Given the description of an element on the screen output the (x, y) to click on. 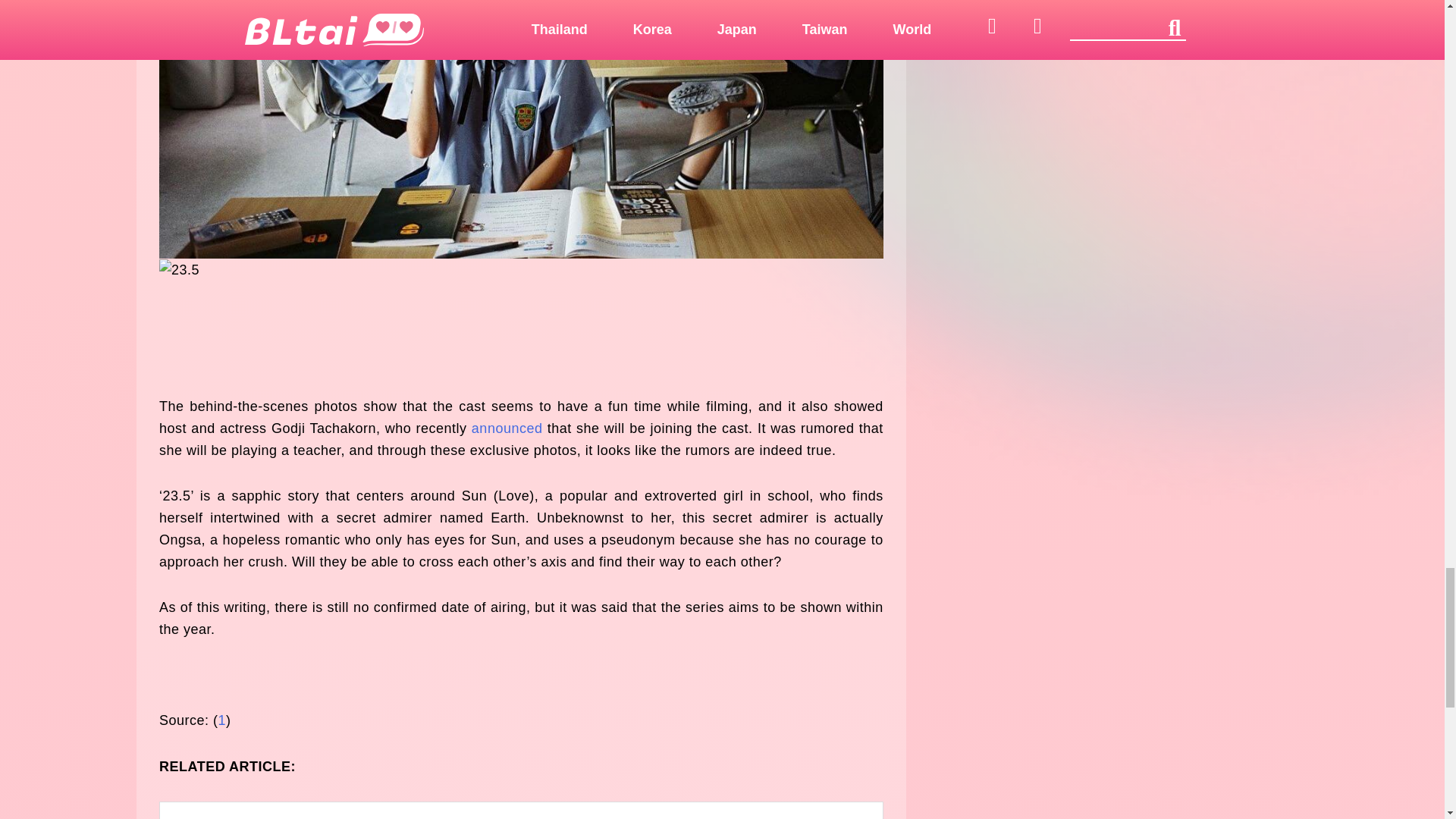
announced (507, 427)
